Given the description of an element on the screen output the (x, y) to click on. 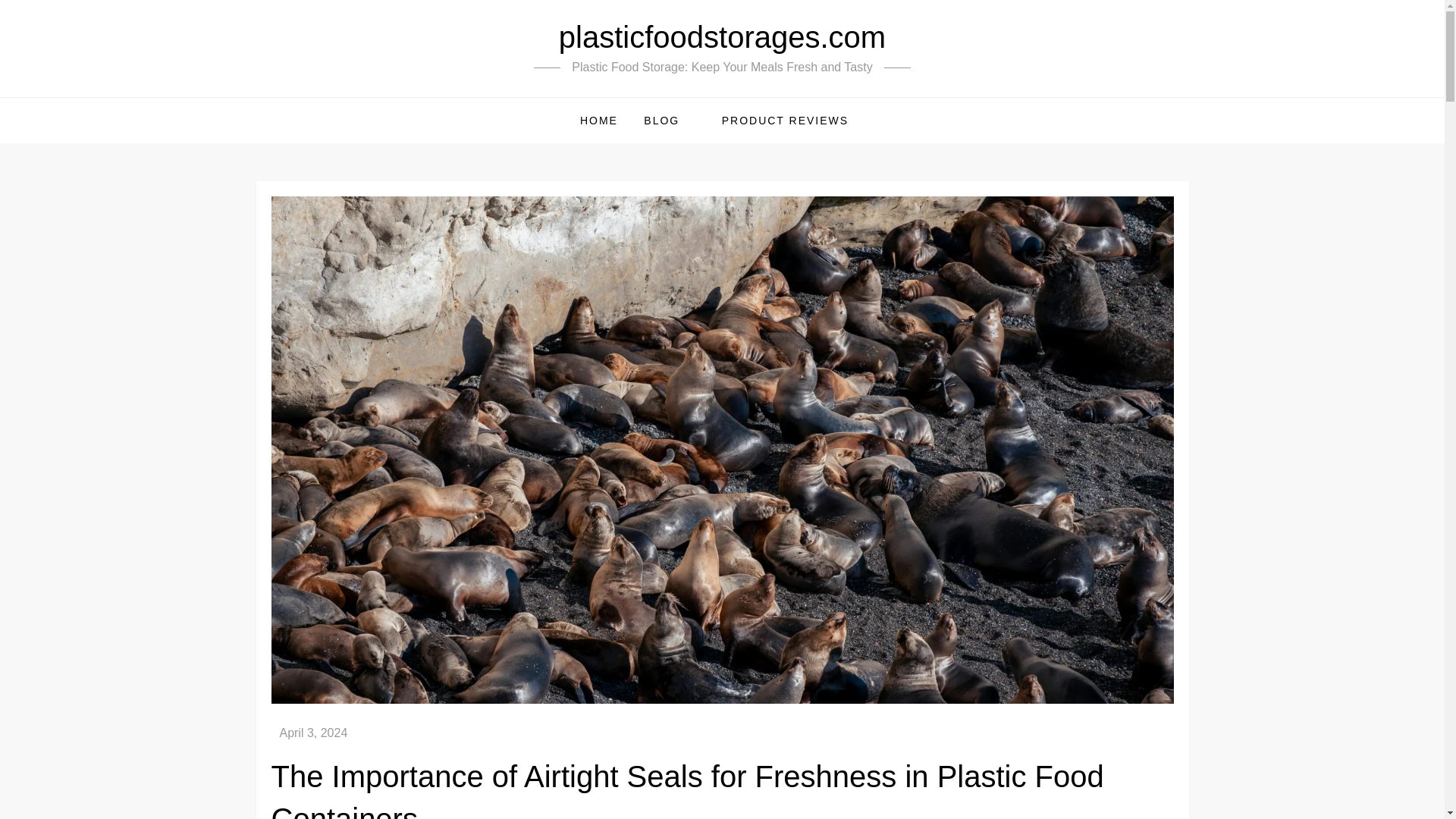
April 3, 2024 (313, 732)
HOME (598, 120)
plasticfoodstorages.com (722, 37)
PRODUCT REVIEWS (793, 120)
BLOG (668, 120)
